Given the description of an element on the screen output the (x, y) to click on. 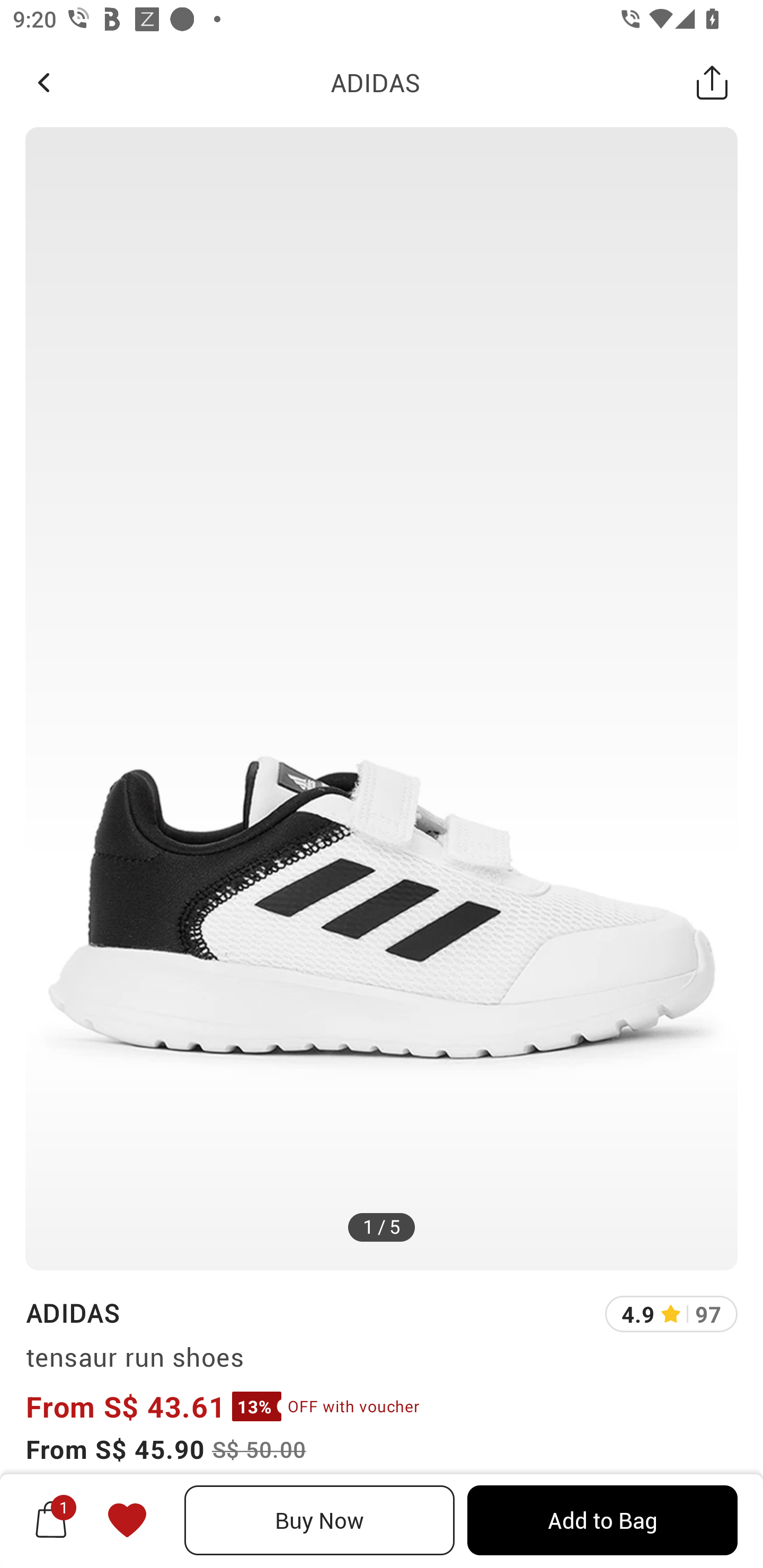
ADIDAS (375, 82)
Share this Product (711, 82)
ADIDAS (72, 1312)
4.9 97 (671, 1313)
Buy Now (319, 1519)
Add to Bag (601, 1519)
1 (50, 1520)
